Given the description of an element on the screen output the (x, y) to click on. 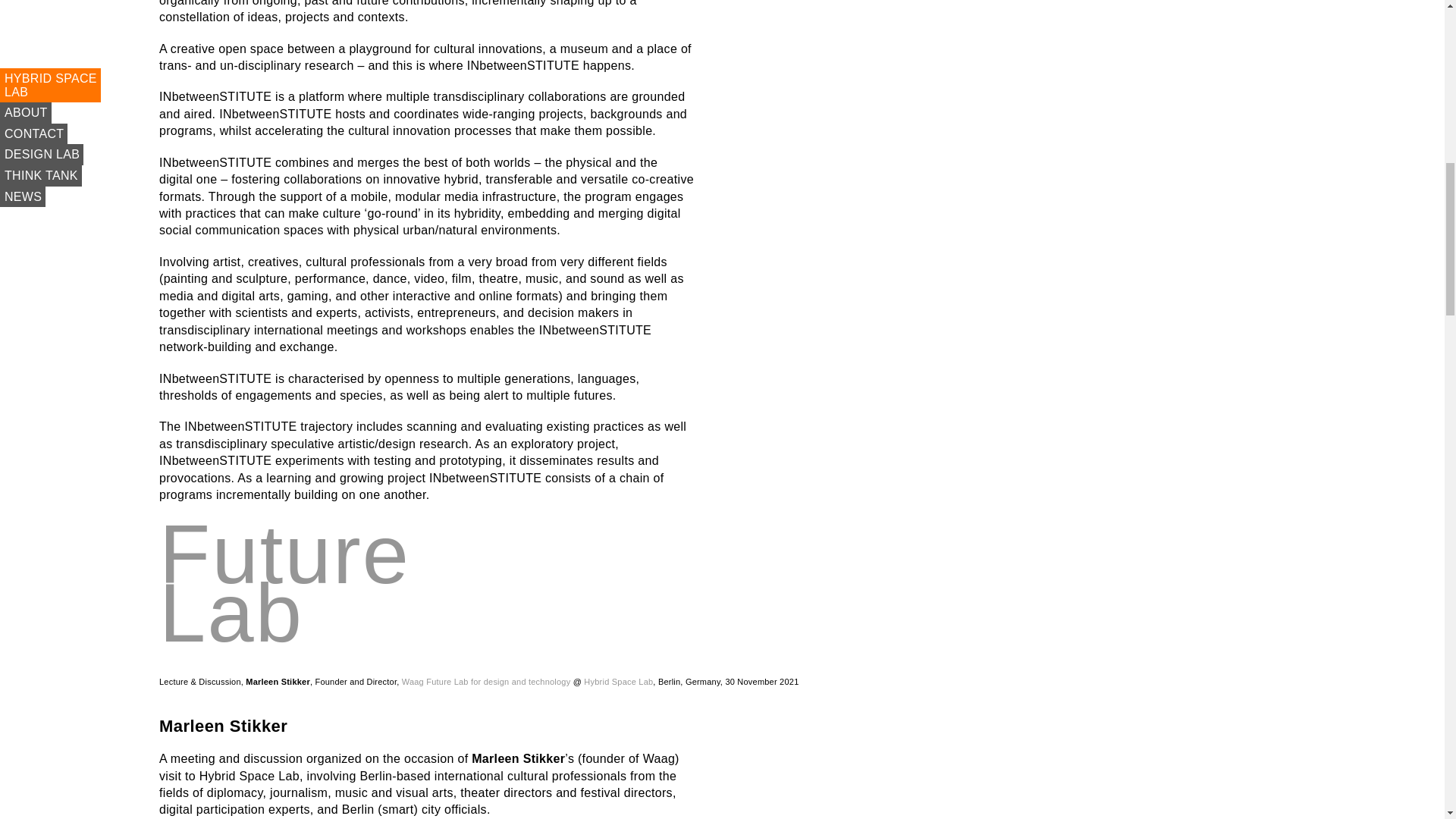
Hybrid Space Lab (617, 681)
Waag (412, 681)
Future Lab for design and technology (498, 681)
